Given the description of an element on the screen output the (x, y) to click on. 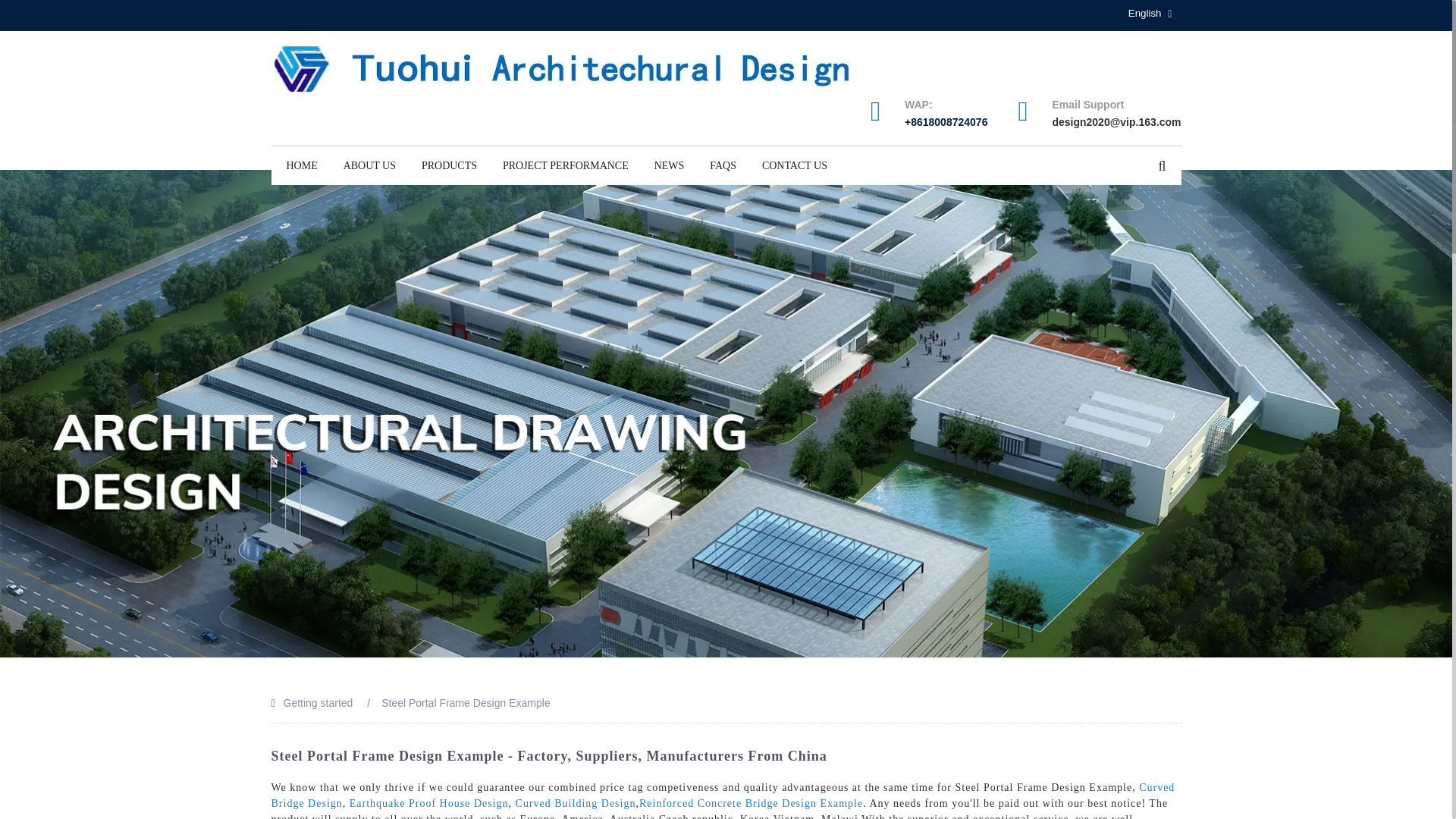
Earthquake Proof House Design (428, 803)
CONTACT US (794, 166)
Curved Building Design (575, 803)
Reinforced Concrete Bridge Design Example (751, 803)
Reinforced Concrete Bridge Design Example (751, 803)
English (1132, 13)
Steel Portal Frame Design Example (465, 702)
Curved Bridge Design (722, 795)
ABOUT US (369, 166)
Curved Building Design (575, 803)
NEWS (669, 166)
Getting started (318, 702)
HOME (302, 166)
Earthquake Proof House Design (428, 803)
PROJECT PERFORMANCE (566, 166)
